Given the description of an element on the screen output the (x, y) to click on. 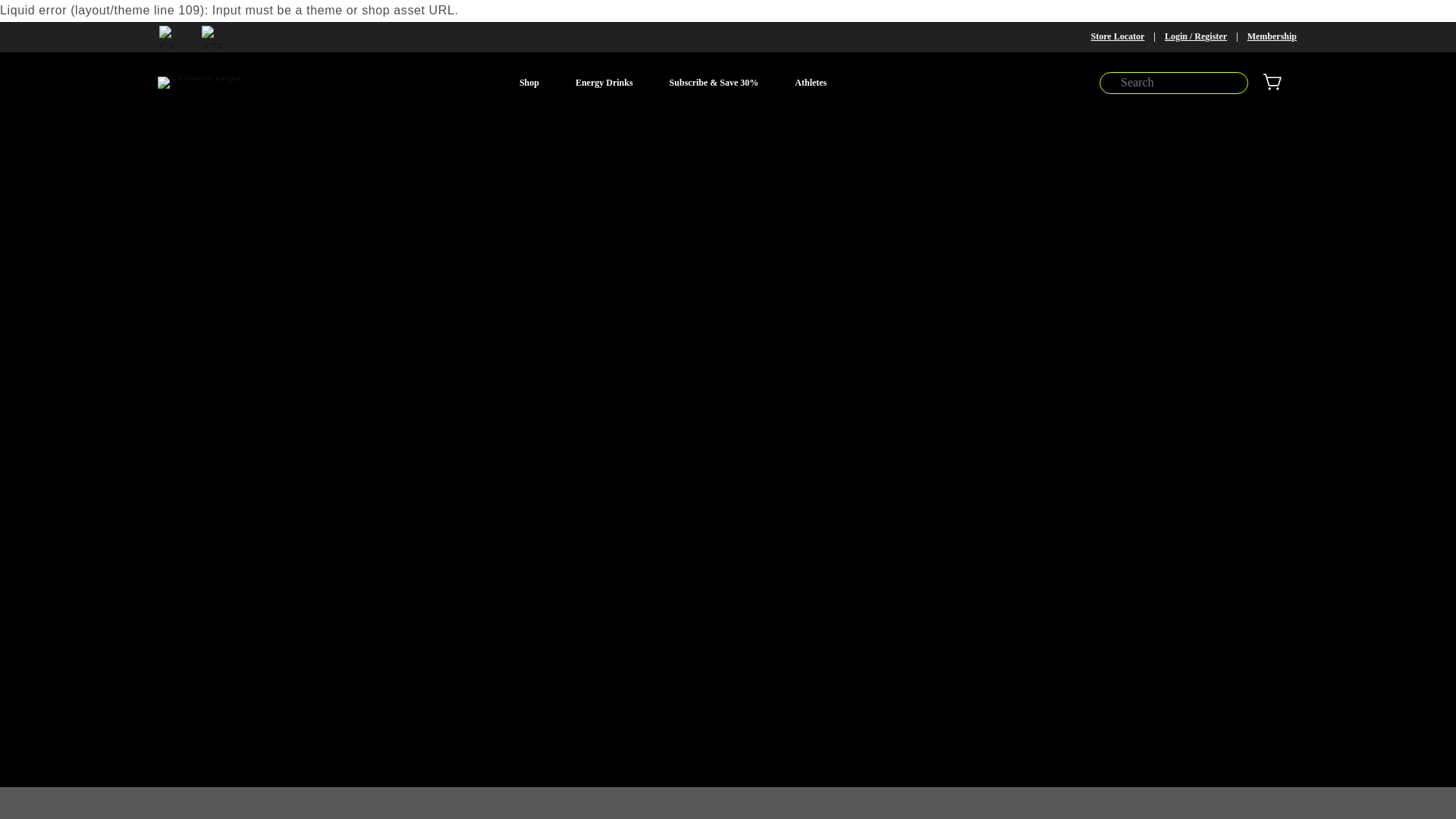
Store Locator (1117, 36)
Athletes (810, 82)
Energy Drinks (603, 82)
SKIP TO CONTENT (45, 17)
Membership (1272, 36)
Shop (528, 82)
